Given the description of an element on the screen output the (x, y) to click on. 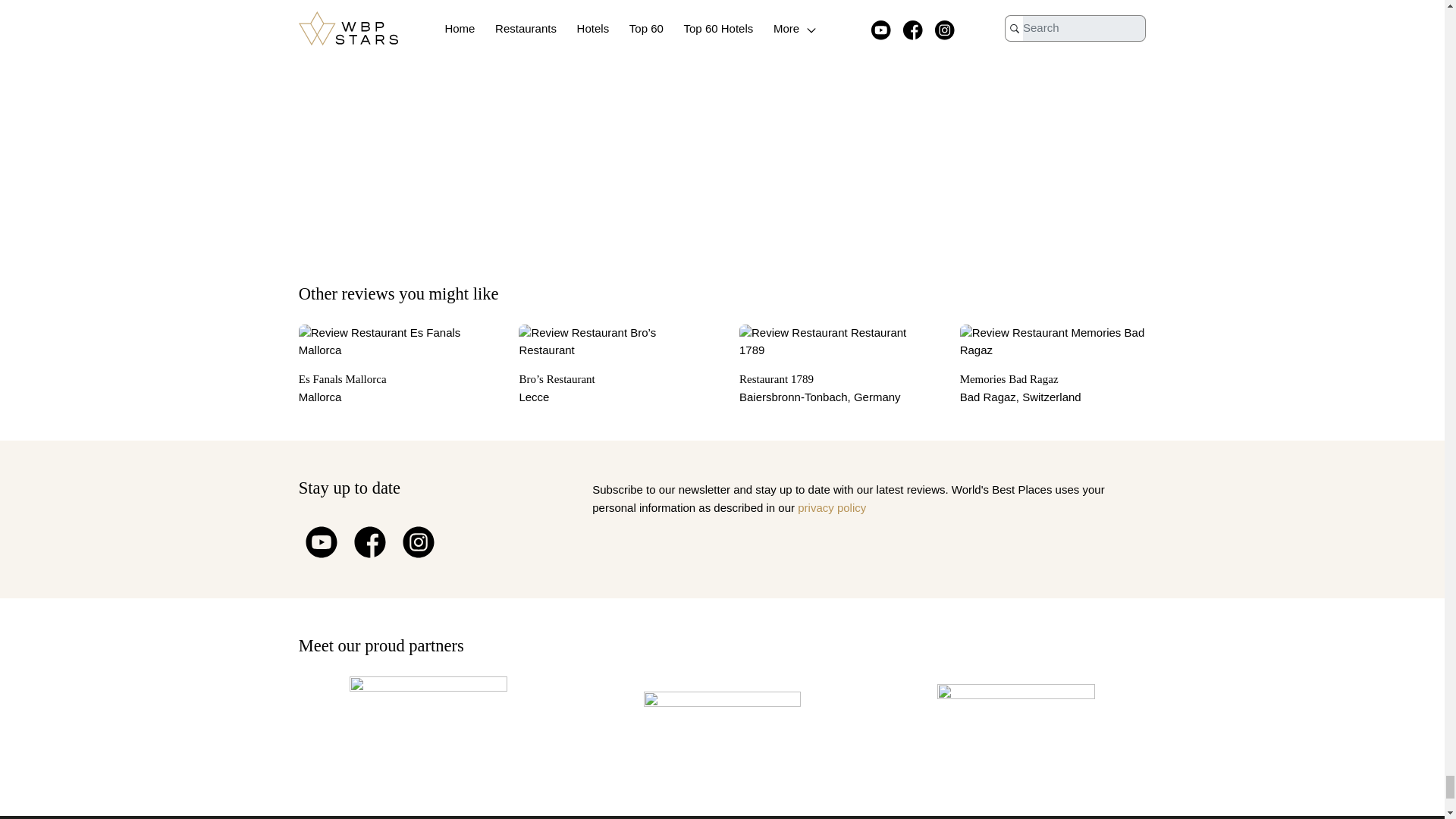
Review Restaurant Es Fanals Mallorca (391, 341)
Review Restaurant Restaurant 1789 (832, 341)
Review Restaurant Memories Bad Ragaz (1053, 341)
